Given the description of an element on the screen output the (x, y) to click on. 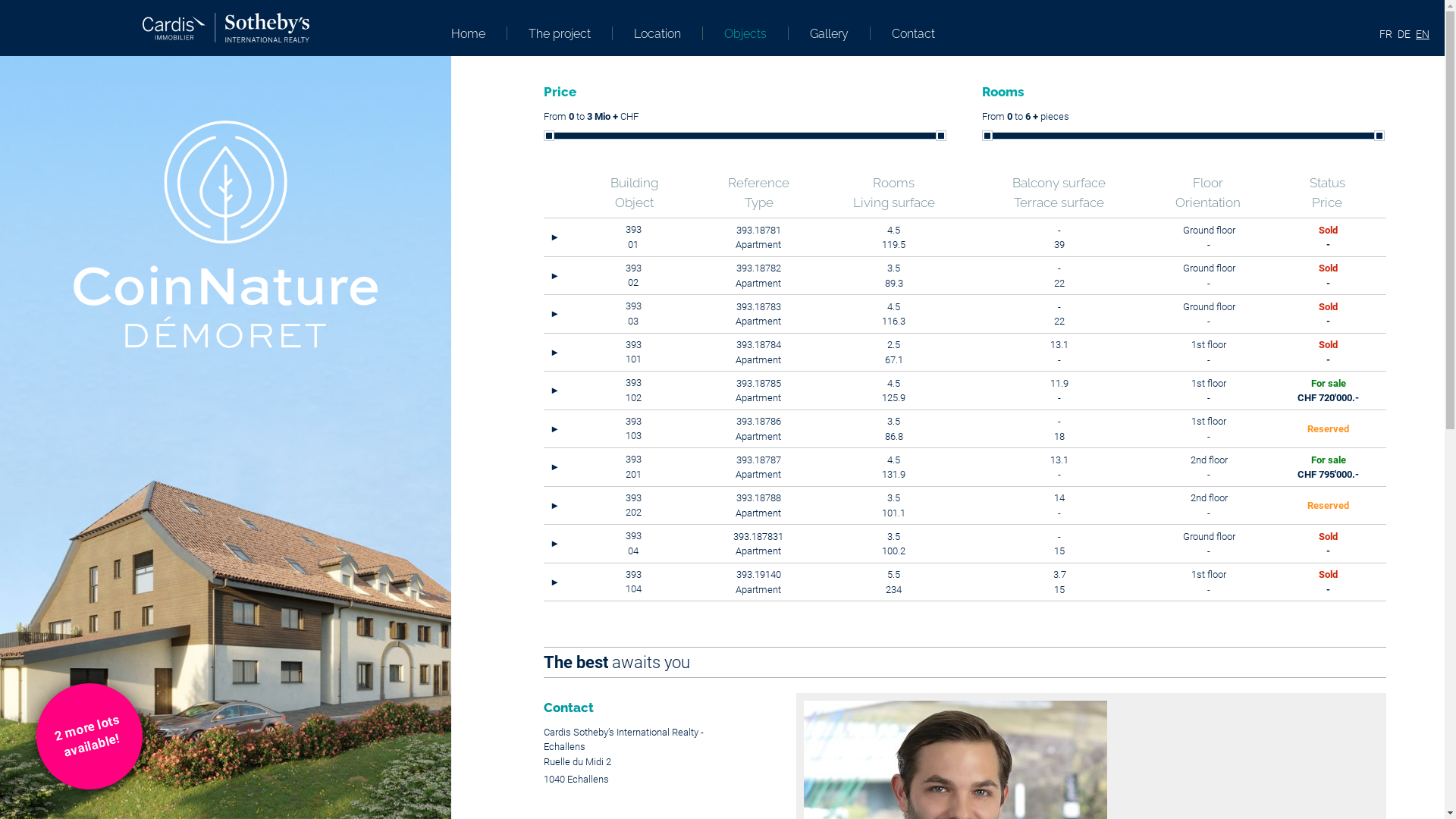
DE Element type: text (1403, 34)
2 more lots available! Element type: text (77, 724)
Contact Element type: text (904, 33)
FR Element type: text (1385, 34)
Objects Element type: text (745, 33)
Location Element type: text (657, 33)
EN Element type: text (1422, 34)
Gallery Element type: text (829, 33)
Home Element type: text (479, 33)
The project Element type: text (559, 33)
